Given the description of an element on the screen output the (x, y) to click on. 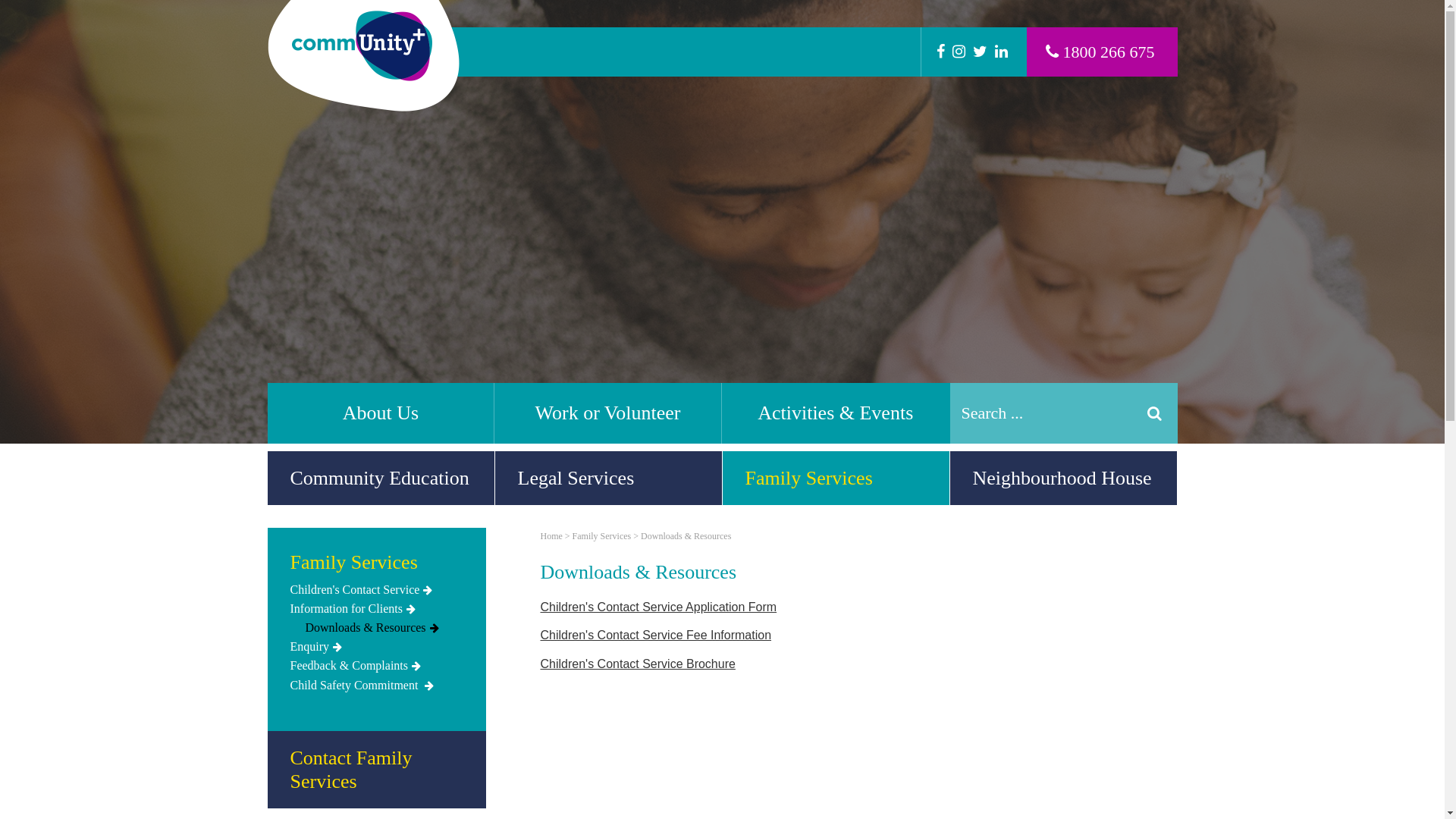
Child Safety Commitment Element type: text (375, 685)
Home Element type: text (550, 535)
Activities & Events Element type: text (835, 412)
Community Education Element type: text (379, 478)
Family Services Element type: text (375, 565)
Children's Contact Service Brochure Element type: text (636, 663)
Information for Clients Element type: text (375, 608)
Neighbourhood House Element type: text (1062, 478)
Downloads & Resources Element type: text (383, 627)
Downloads & Resources Element type: text (685, 535)
Children's Contact Service Element type: text (375, 589)
Legal Services Element type: text (607, 478)
Family Services Element type: text (601, 535)
Enquiry Element type: text (375, 646)
About Us Element type: text (380, 412)
Feedback & Complaints Element type: text (375, 665)
Family Services Element type: text (834, 478)
Contact Family Services Element type: text (375, 769)
Go Element type: hover (1153, 412)
Children's Contact Service Fee Information Element type: text (655, 634)
1800 266 675 Element type: text (1099, 51)
Work or Volunteer Element type: text (607, 412)
Children's Contact Service Application Form Element type: text (657, 606)
